Given the description of an element on the screen output the (x, y) to click on. 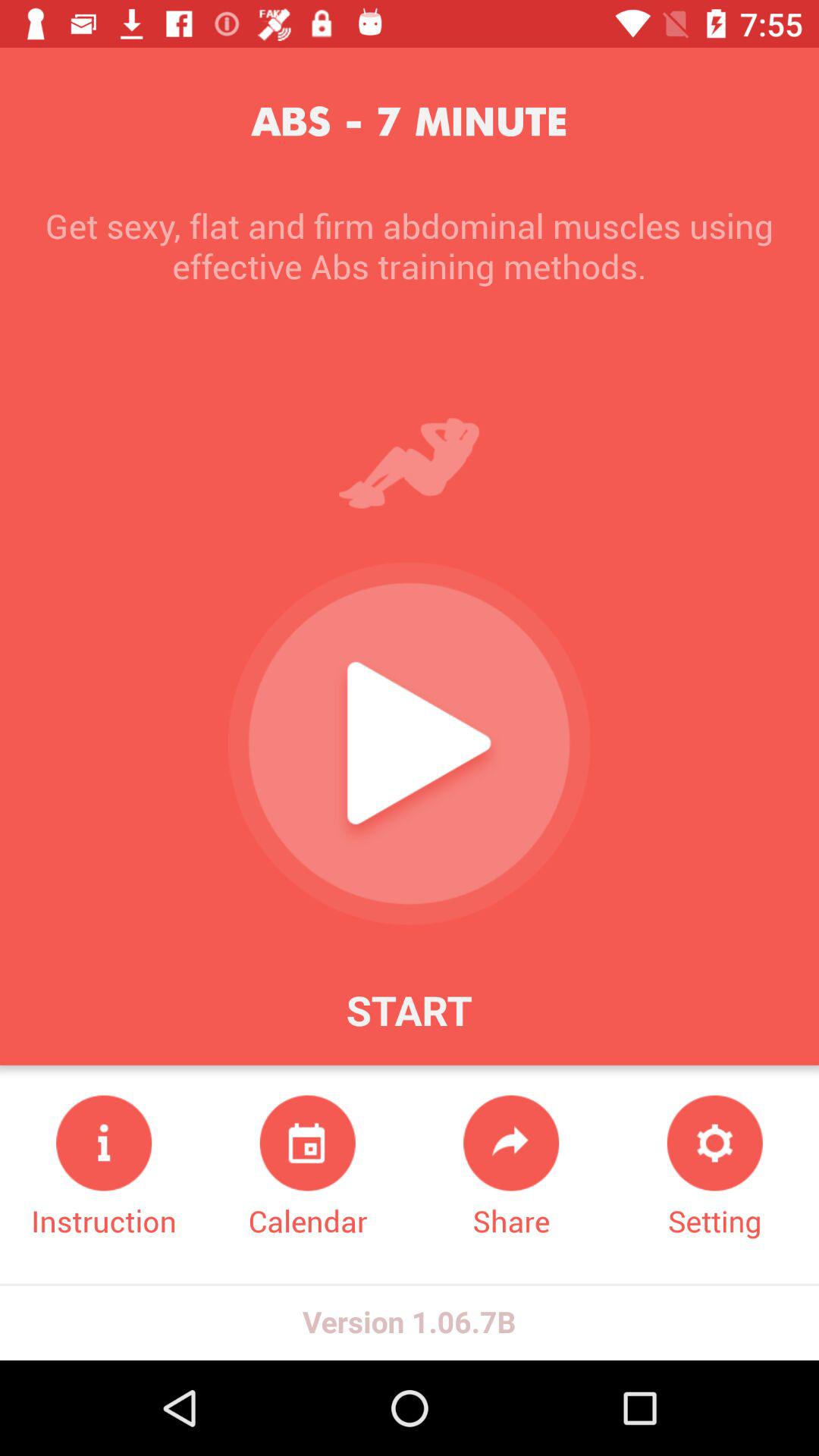
open the instruction at the bottom left corner (103, 1168)
